Given the description of an element on the screen output the (x, y) to click on. 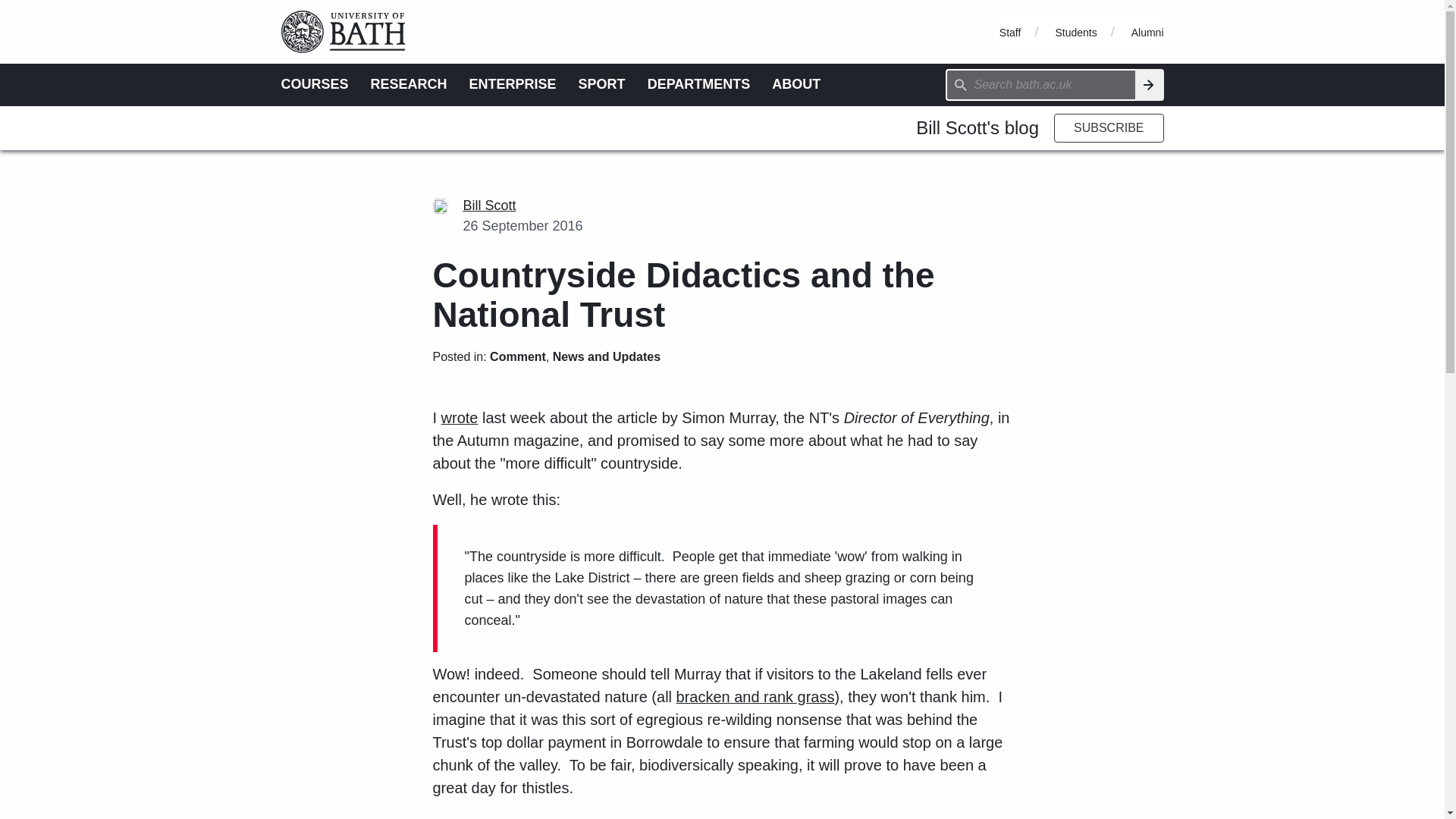
Bill Scott (489, 205)
COURSES (314, 83)
SUBSCRIBE (1108, 127)
News and Updates (607, 818)
Students (1075, 32)
University of Bath (348, 6)
Comment (517, 356)
DEPARTMENTS (699, 83)
ABOUT (796, 83)
RESEARCH (408, 83)
Type search term here (1039, 84)
bracken and rank grass (755, 696)
News and Updates (607, 356)
Comment (517, 818)
wrote (460, 417)
